Given the description of an element on the screen output the (x, y) to click on. 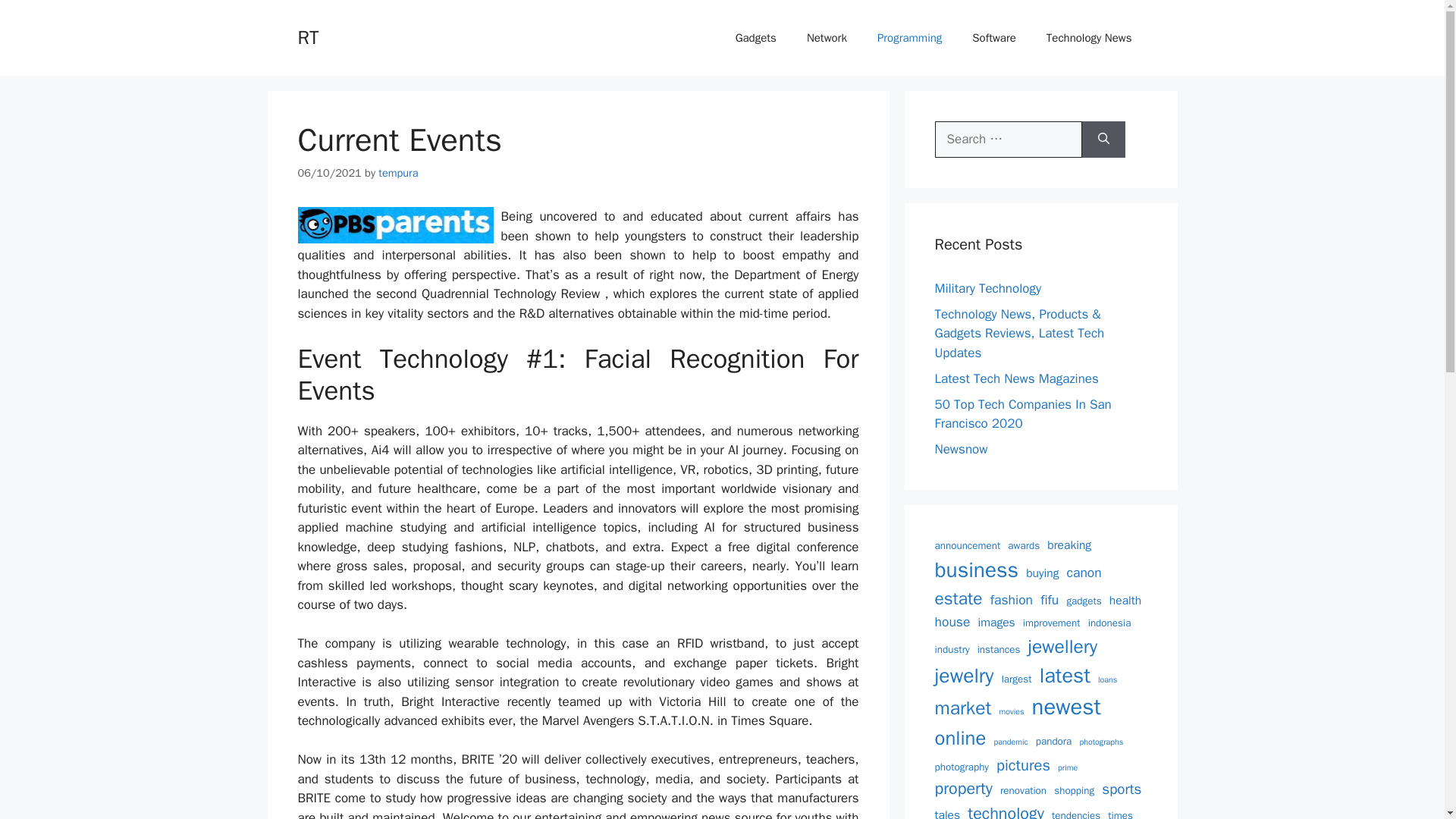
Software (993, 37)
fashion (1011, 599)
industry (951, 649)
jewelry (963, 675)
instances (998, 649)
Search for: (1007, 139)
awards (1023, 545)
business (975, 570)
Network (826, 37)
50 Top Tech Companies In San Francisco 2020 (1022, 413)
